Given the description of an element on the screen output the (x, y) to click on. 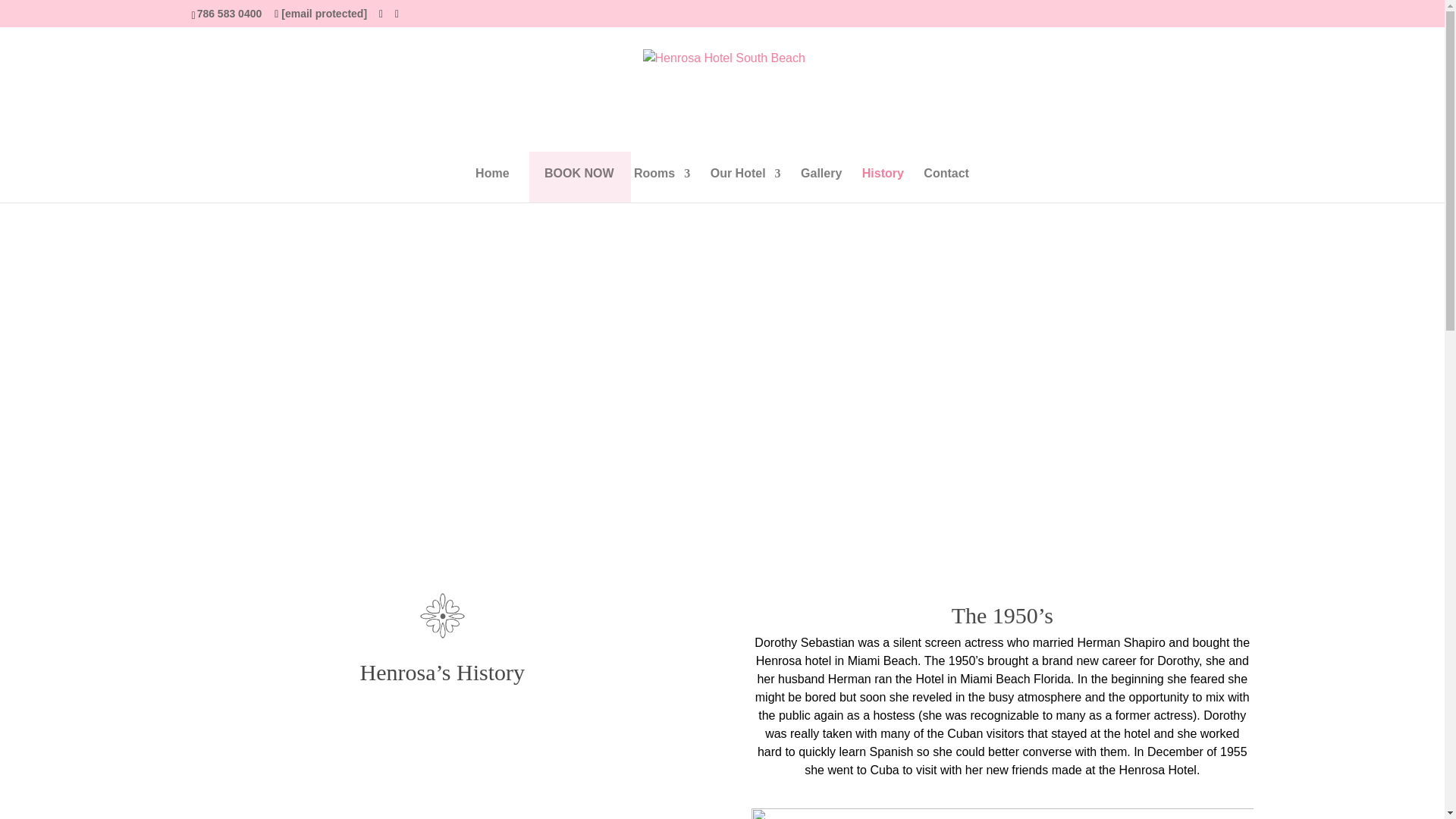
BOOK NOW (579, 185)
Contact (946, 185)
Our Hotel (745, 185)
Gallery (820, 185)
newspaper-ad (1002, 813)
History (882, 185)
ornament-15 (442, 615)
Rooms (661, 185)
Home (492, 185)
